Given the description of an element on the screen output the (x, y) to click on. 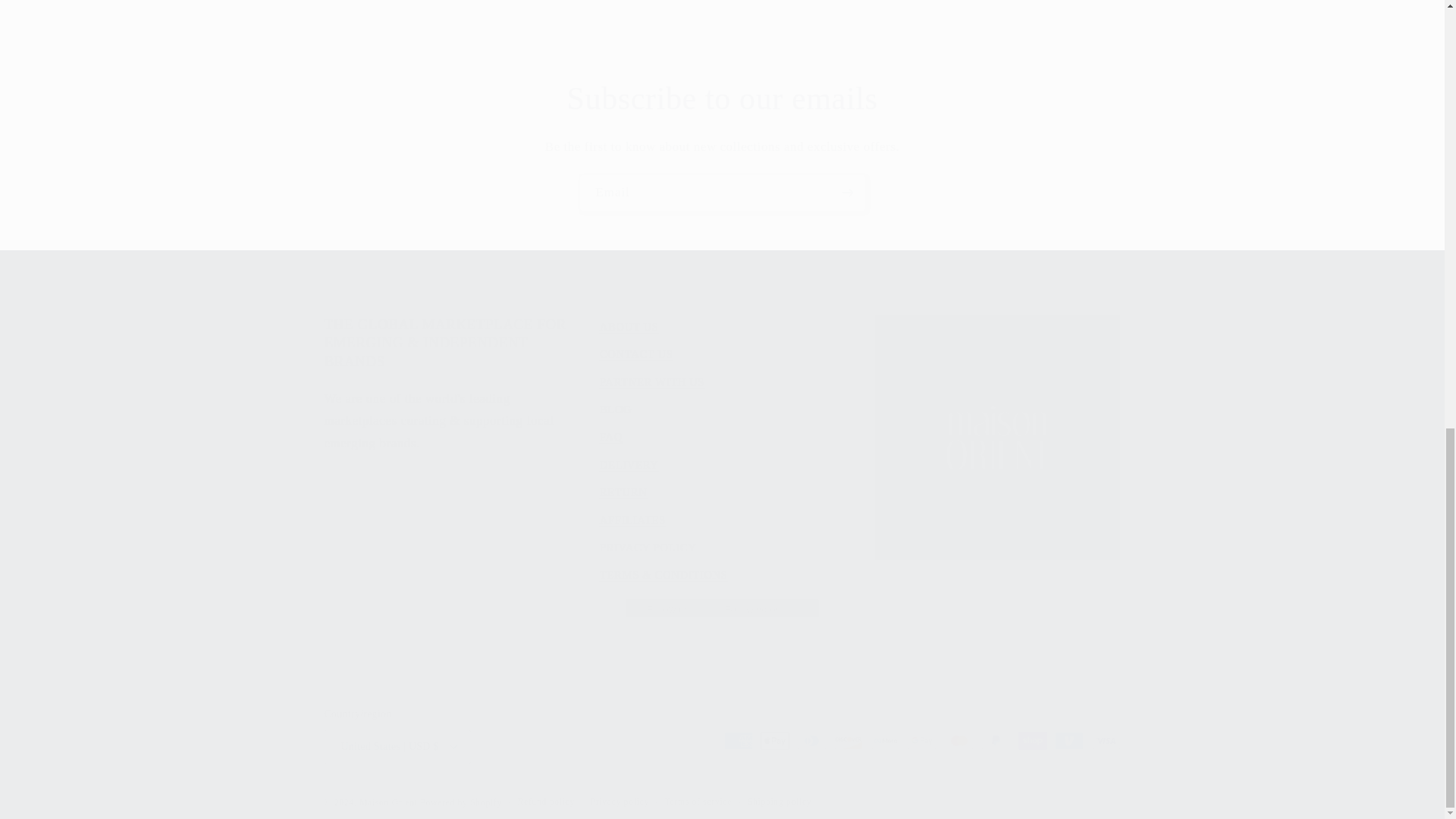
Email (722, 192)
Subscribe to our emails (722, 98)
